Given the description of an element on the screen output the (x, y) to click on. 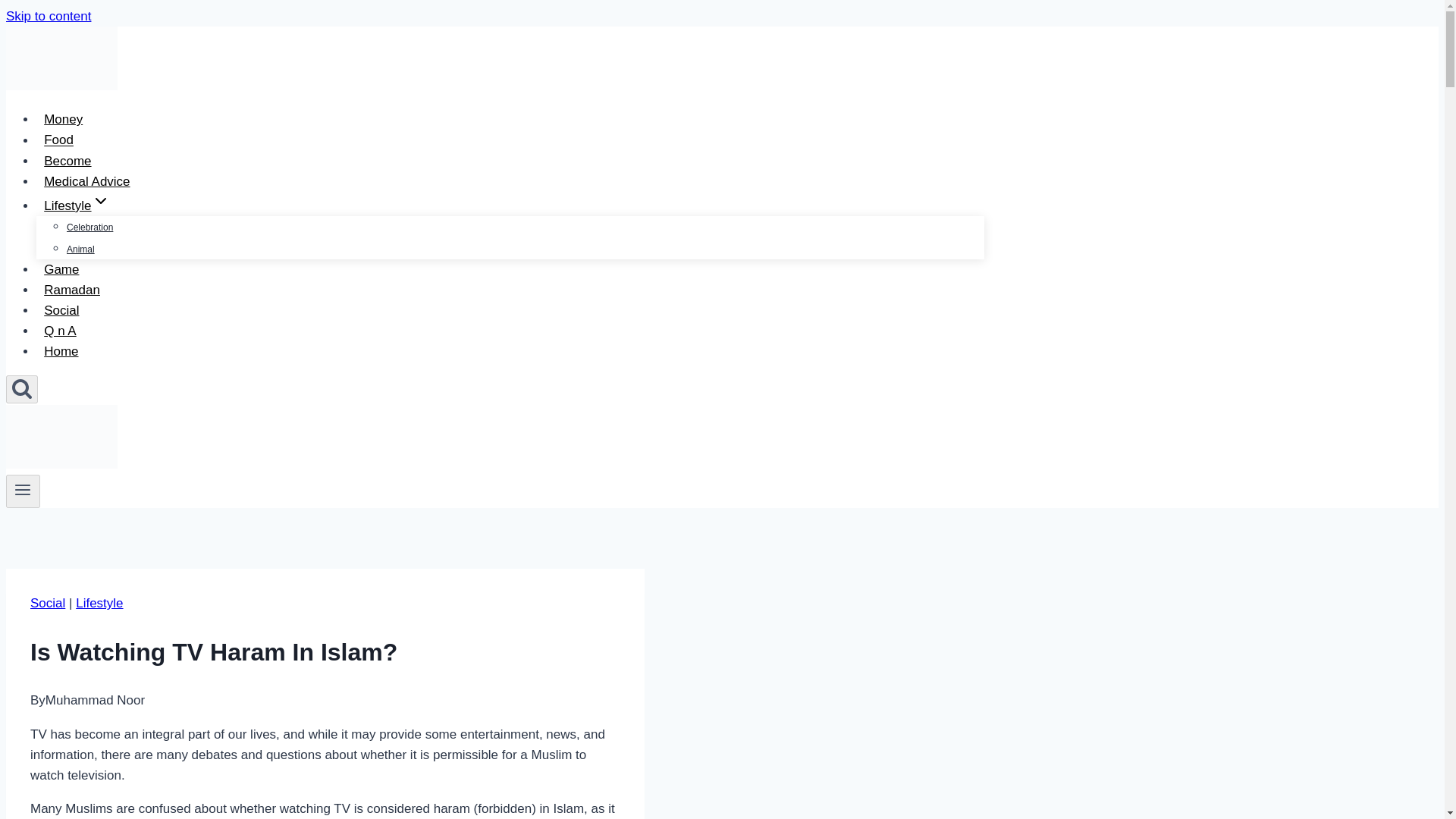
Toggle Menu (22, 491)
Home (60, 351)
Q n A (60, 330)
Skip to content (47, 16)
Lifestyle (98, 603)
Search (21, 387)
Toggle Menu (22, 489)
Game (61, 269)
Search (21, 389)
Expand (100, 200)
Become (67, 161)
Animal (80, 249)
LifestyleExpand (76, 205)
Money (63, 119)
Skip to content (47, 16)
